Given the description of an element on the screen output the (x, y) to click on. 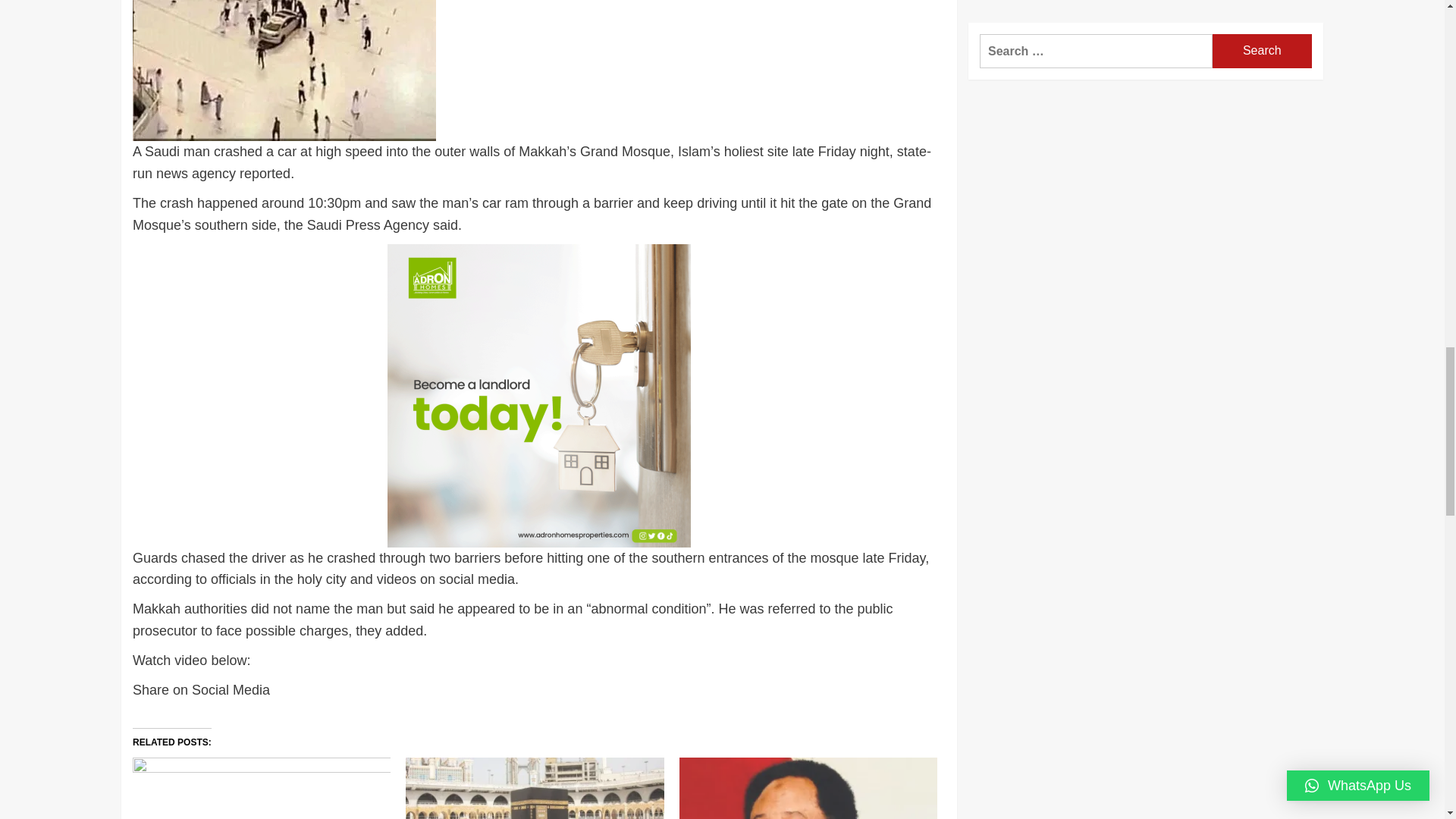
2,009 Nigerian pilgrims arrive in Madinah for Hajj 2022 (261, 788)
sauditwitter (283, 70)
